Given the description of an element on the screen output the (x, y) to click on. 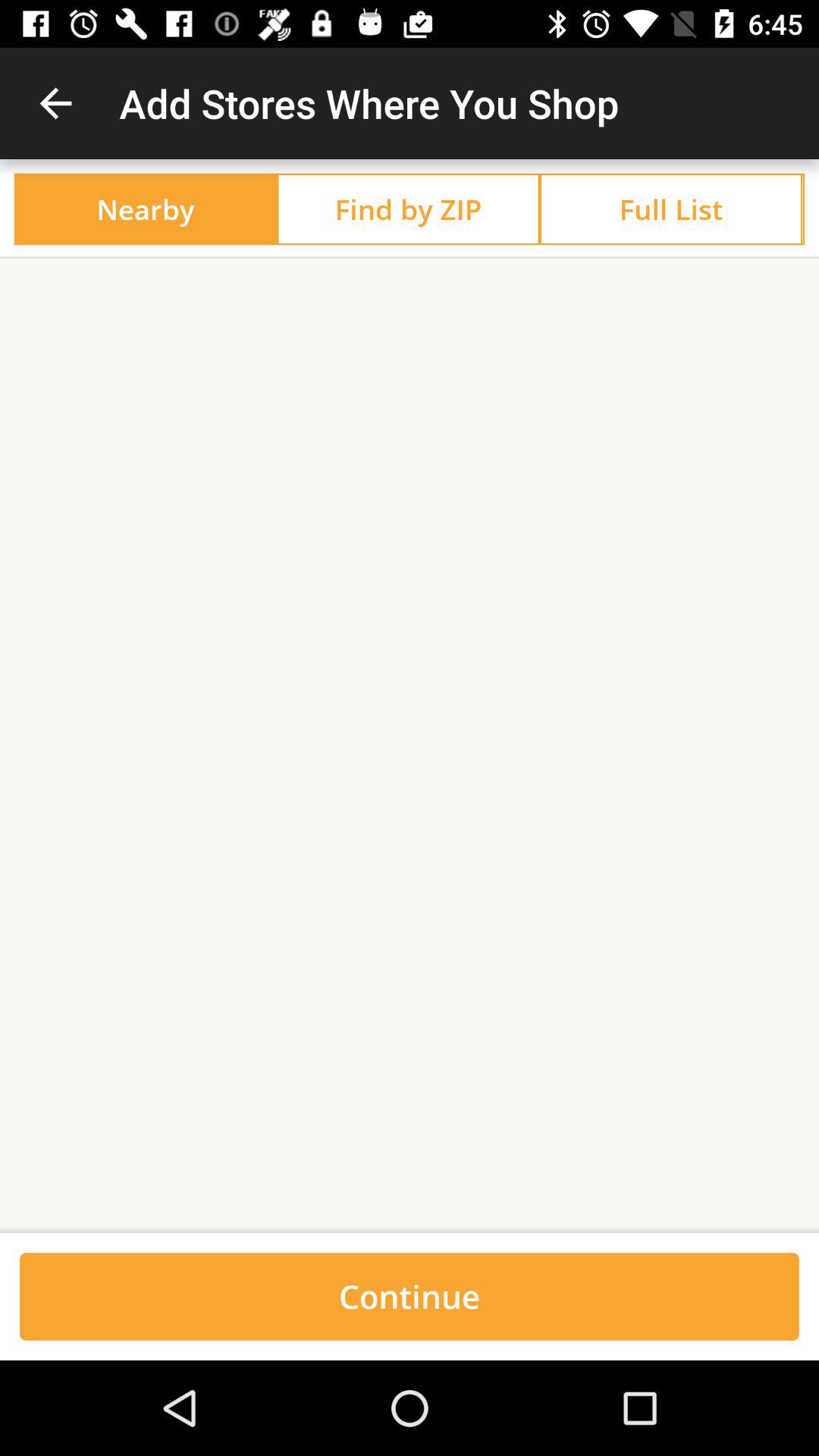
click the icon above the nearby item (55, 103)
